Given the description of an element on the screen output the (x, y) to click on. 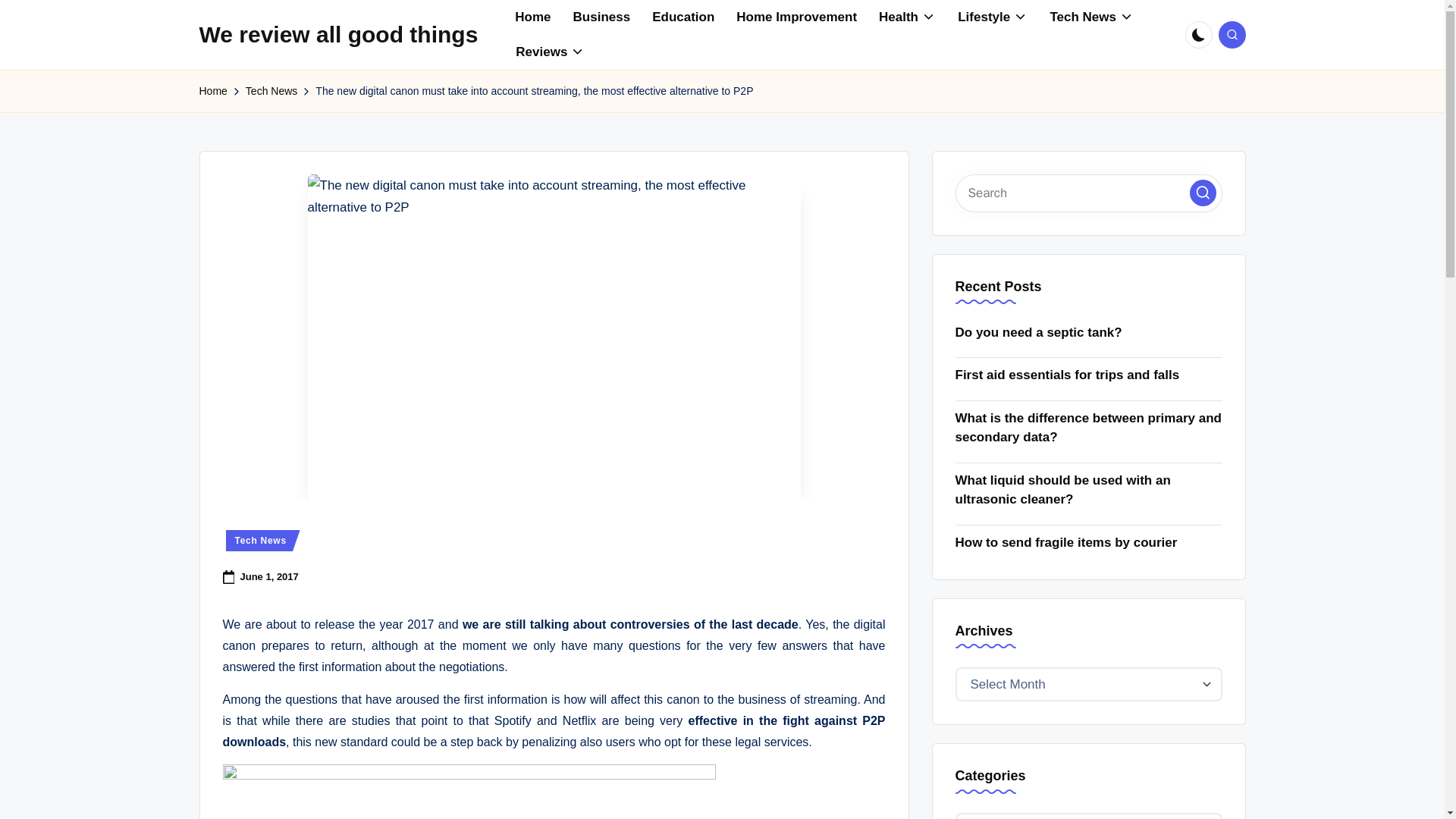
Home Improvement (796, 17)
Lifestyle (992, 17)
Business (602, 17)
We review all good things (337, 34)
Education (683, 17)
Health (906, 17)
Home (531, 17)
